Given the description of an element on the screen output the (x, y) to click on. 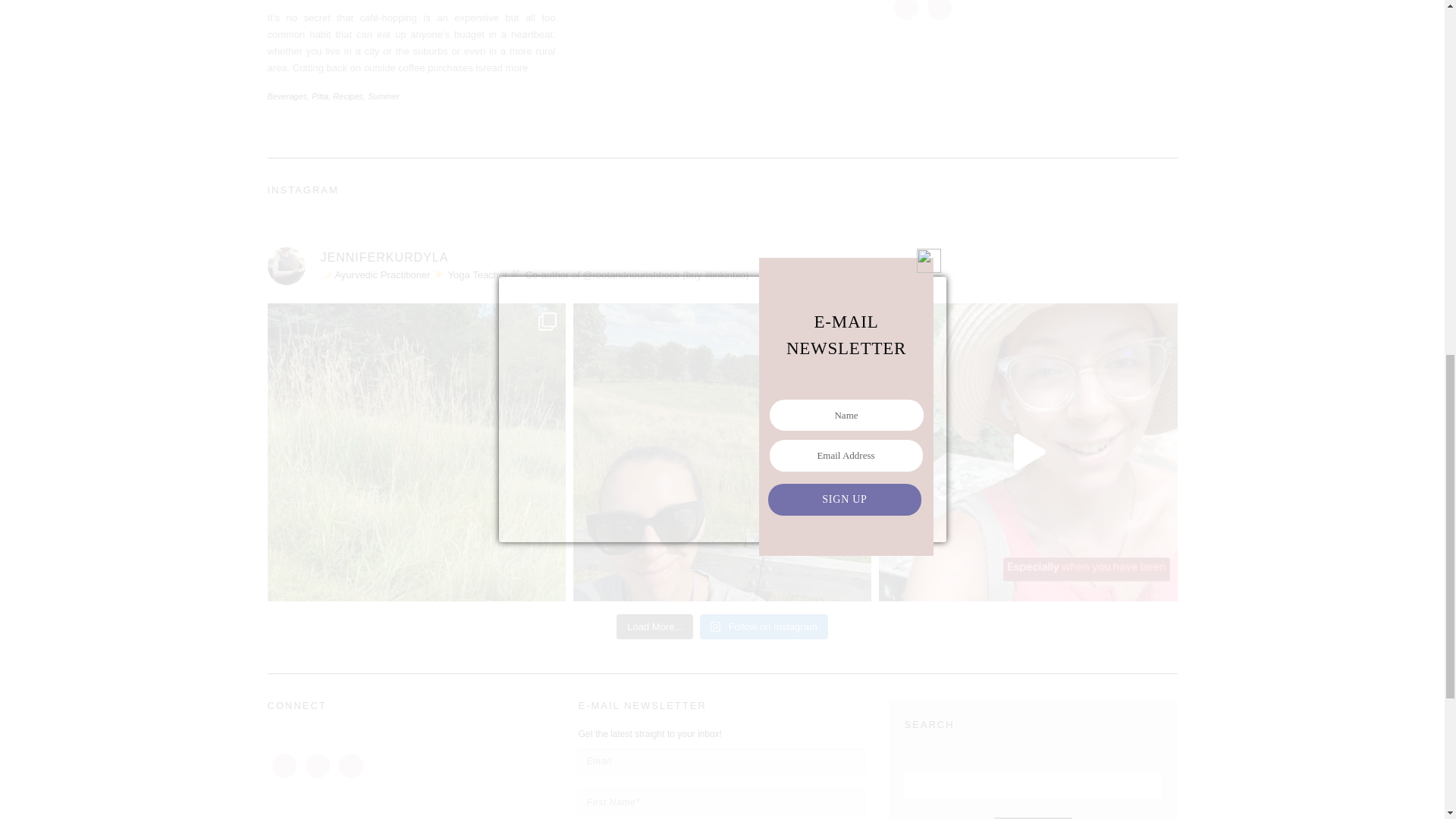
Beverages (286, 95)
Summer (383, 95)
Recipes (347, 95)
Pitta (320, 95)
Load More... (654, 626)
Follow on Instagram (764, 626)
